Given the description of an element on the screen output the (x, y) to click on. 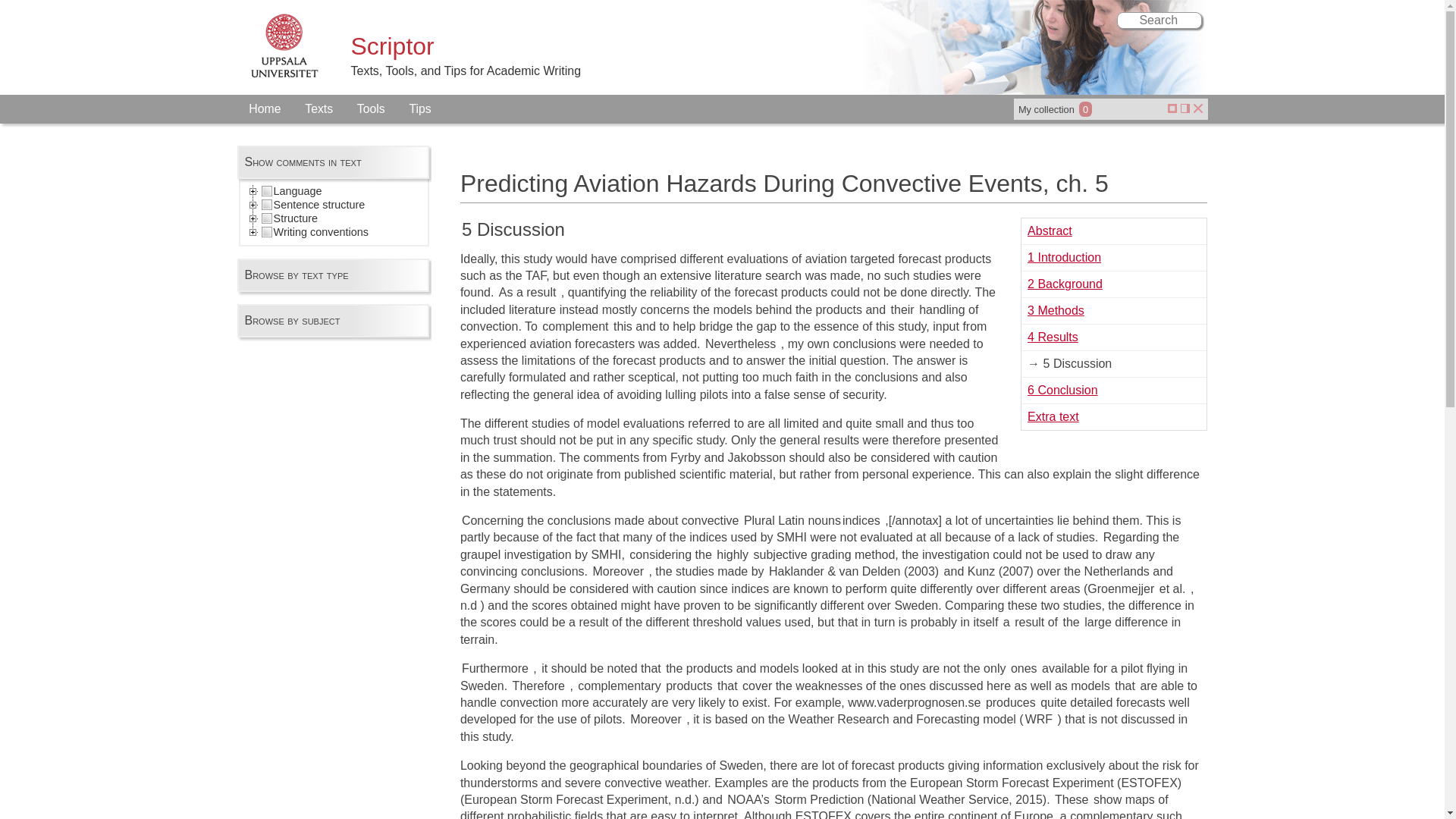
Discussion (513, 228)
Show the collection (1171, 108)
Scriptor (391, 45)
 Language (291, 191)
Texts (318, 109)
Tips (420, 109)
Scriptor (391, 45)
Tools (371, 109)
Hide the collection (1197, 108)
Skip to content (10, 128)
Uppsala universitet (283, 47)
Home (263, 109)
Put the collection into the right sidebar (1184, 108)
Plural (902, 309)
Skip to content (10, 128)
